Given the description of an element on the screen output the (x, y) to click on. 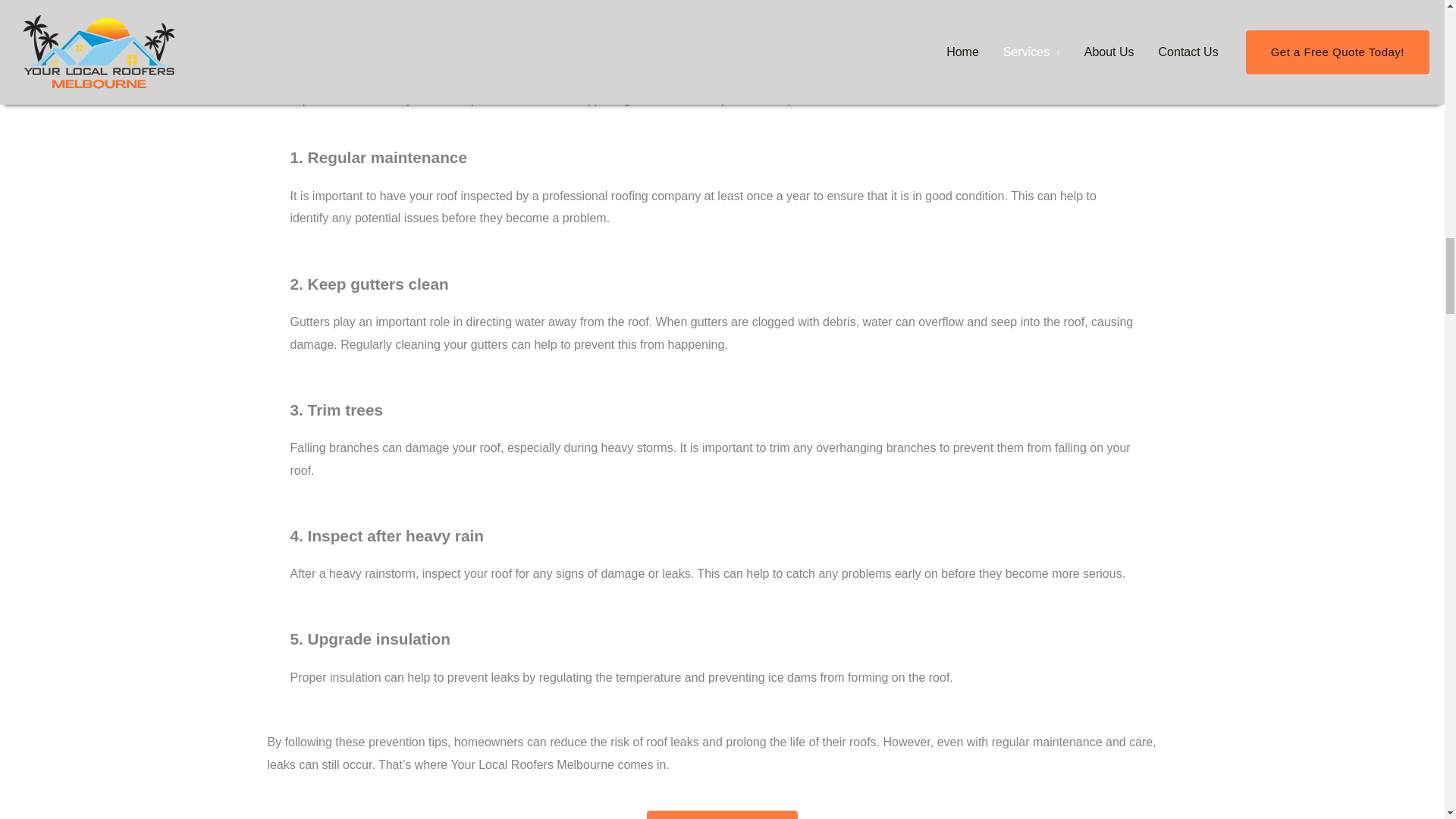
Get a Free Quote (721, 814)
